Given the description of an element on the screen output the (x, y) to click on. 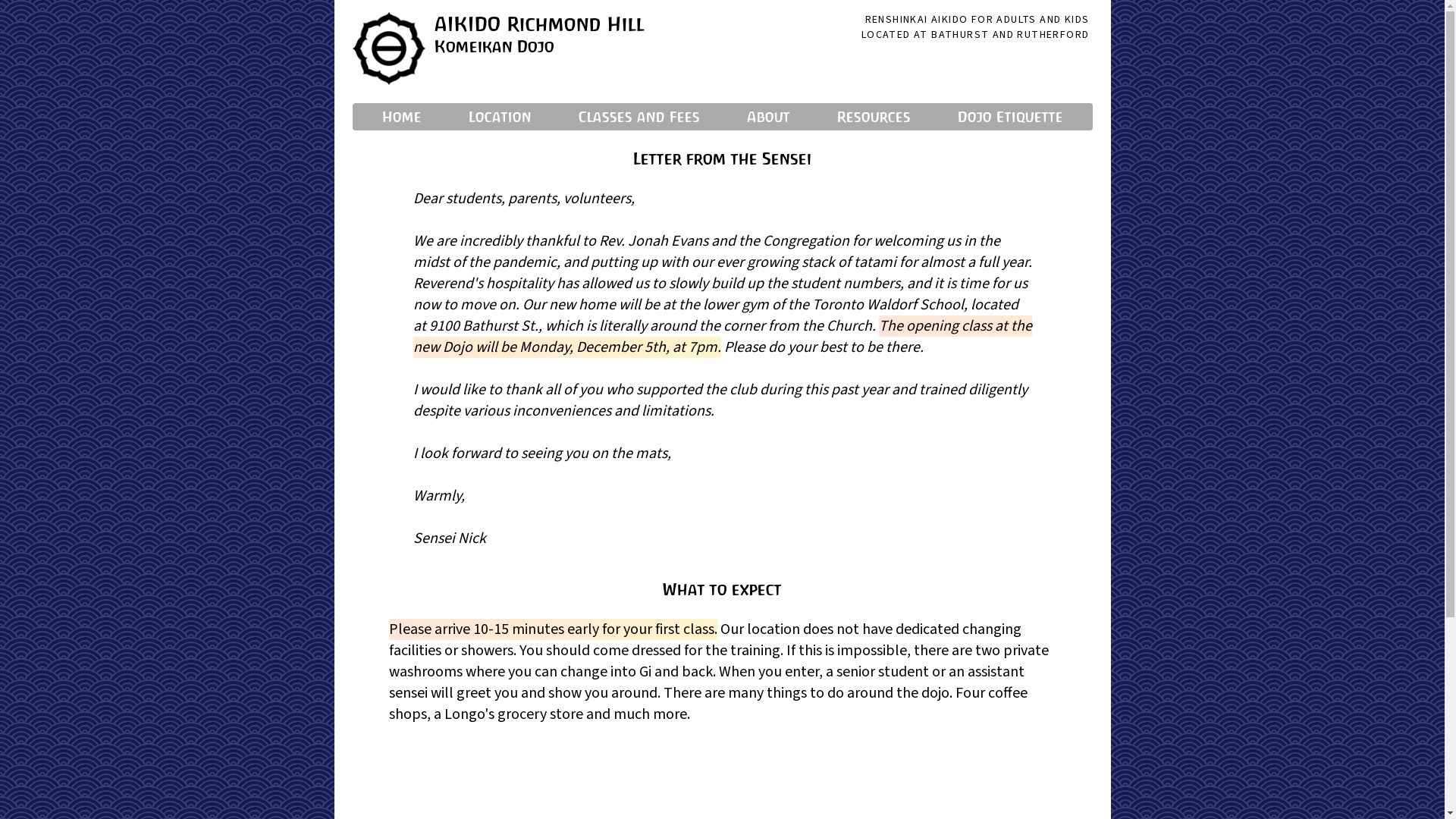
Resources Element type: text (873, 116)
Location Element type: text (499, 116)
Dojo Etiquette Element type: text (1009, 116)
About Element type: text (767, 116)
Classes and Fees Element type: text (638, 116)
Home Element type: text (401, 116)
AIKIDO Richmond Hill
Komeikan Dojo Element type: text (538, 48)
